Given the description of an element on the screen output the (x, y) to click on. 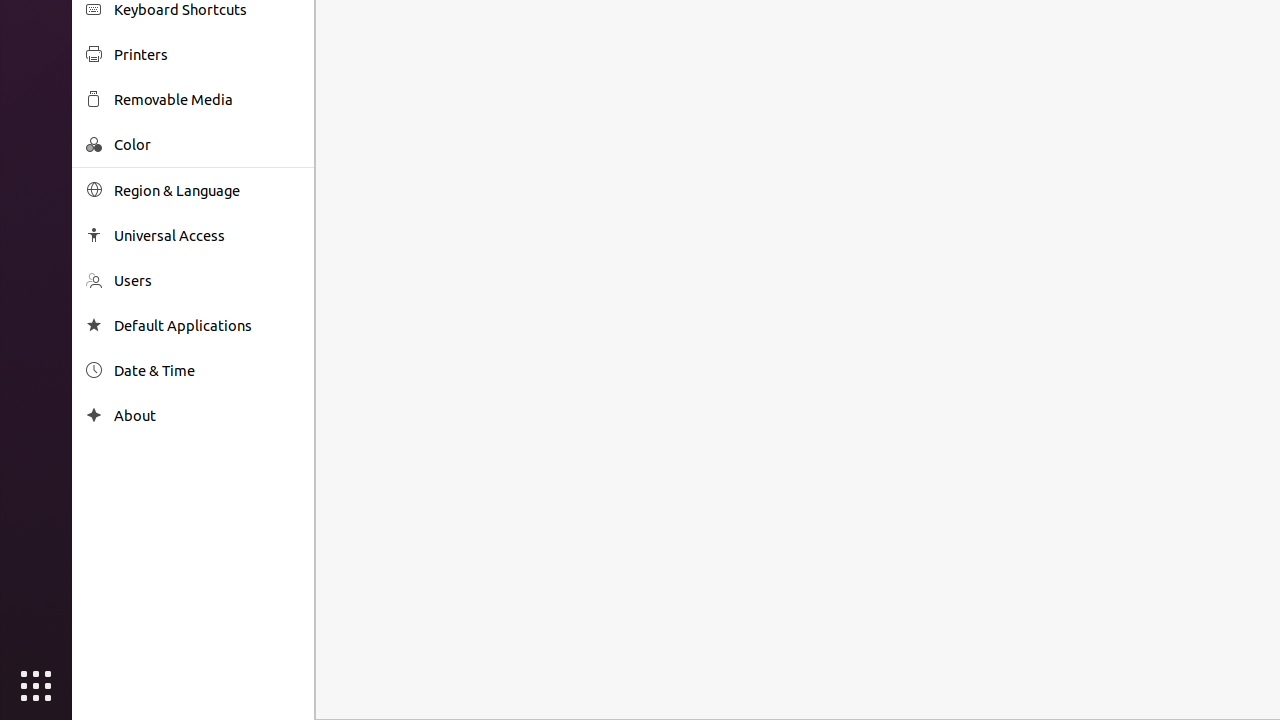
About Element type: label (207, 415)
Universal Access Element type: label (207, 235)
Date & Time Element type: label (207, 370)
Keyboard Shortcuts Element type: label (207, 9)
About Element type: icon (94, 415)
